Given the description of an element on the screen output the (x, y) to click on. 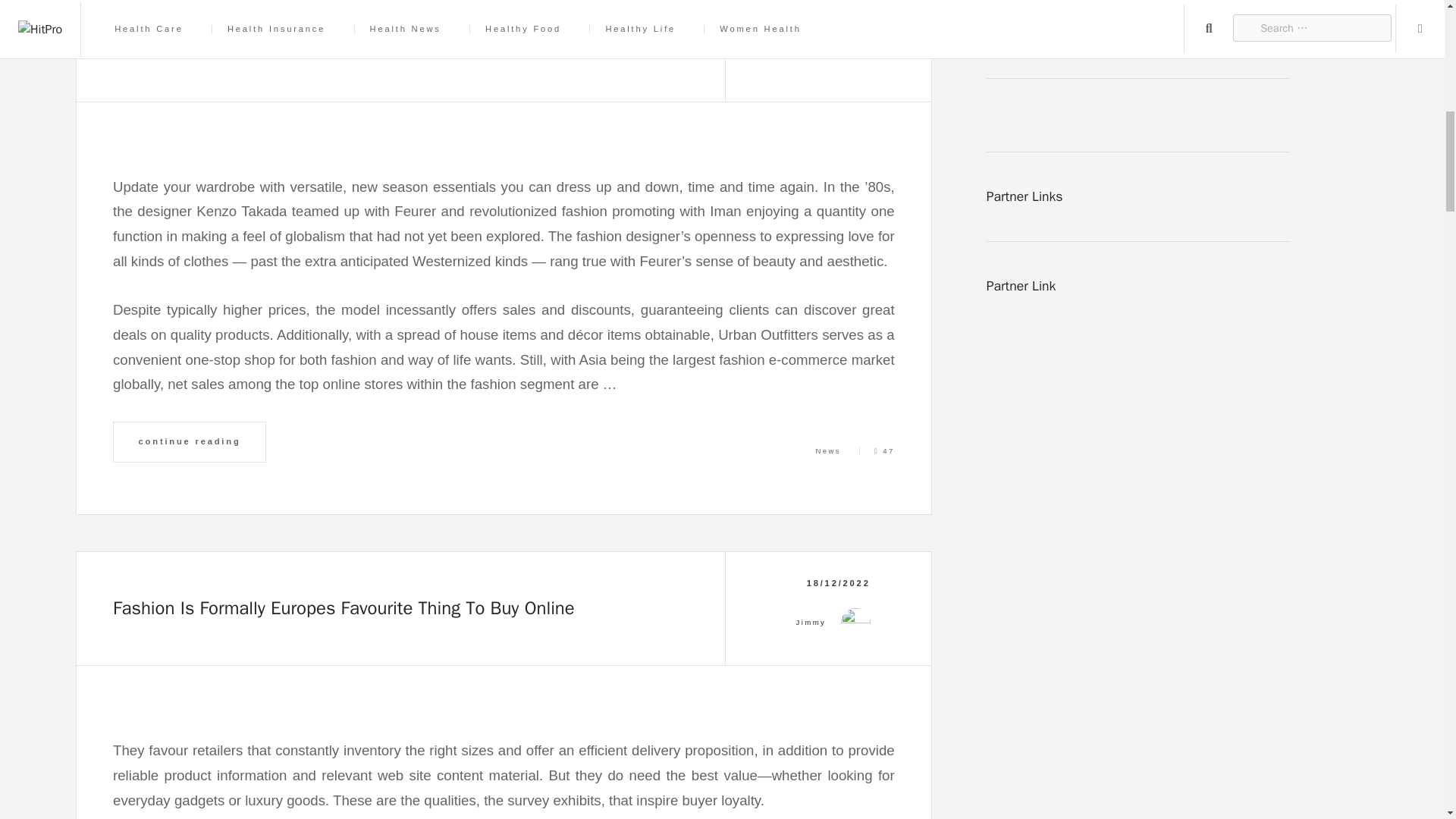
Fashion Is Formally Europes Favourite Thing To Buy Online (344, 608)
News (828, 450)
Jimmy (811, 36)
continue reading (189, 441)
